Given the description of an element on the screen output the (x, y) to click on. 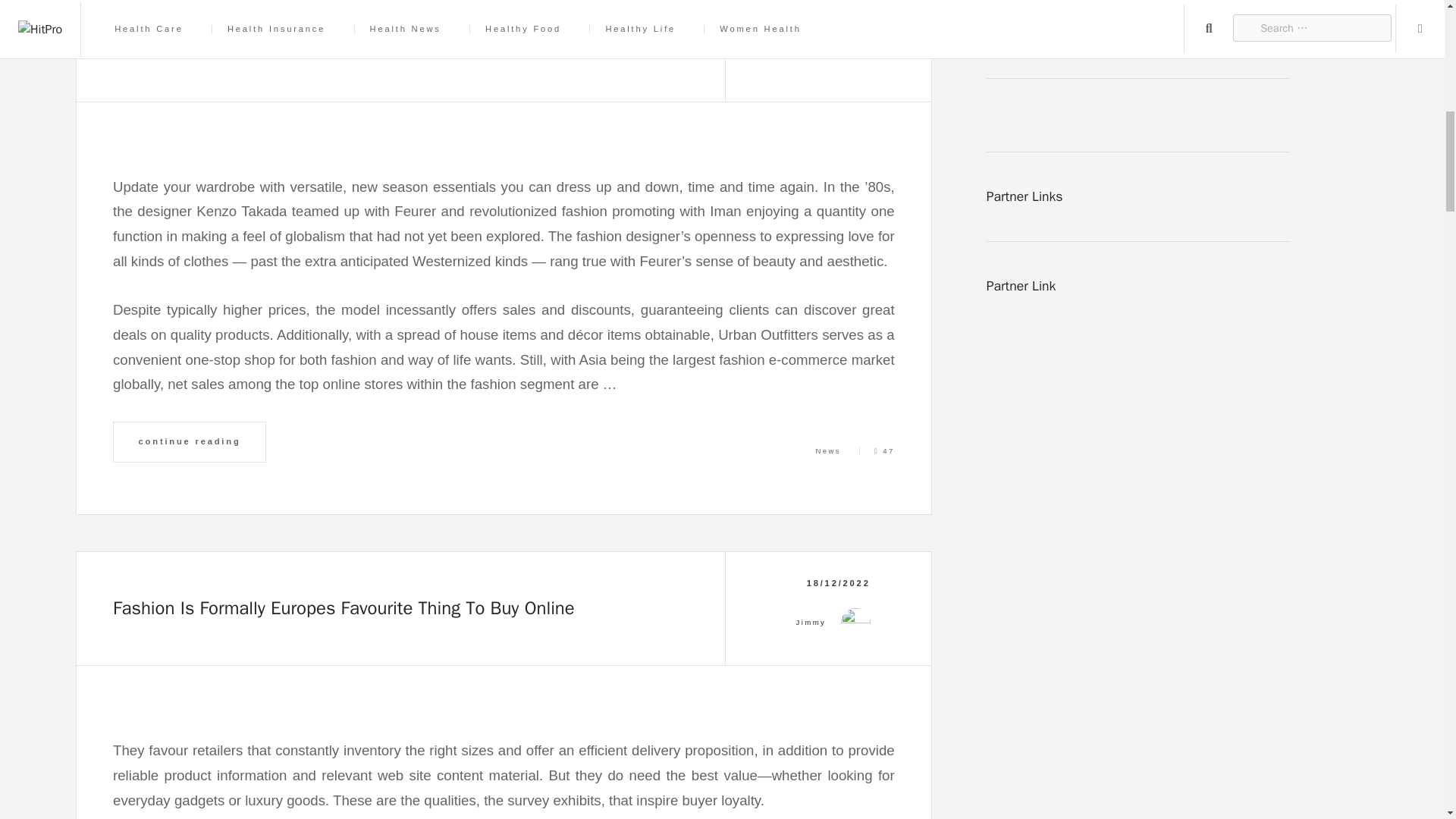
Fashion Is Formally Europes Favourite Thing To Buy Online (344, 608)
News (828, 450)
Jimmy (811, 36)
continue reading (189, 441)
